Given the description of an element on the screen output the (x, y) to click on. 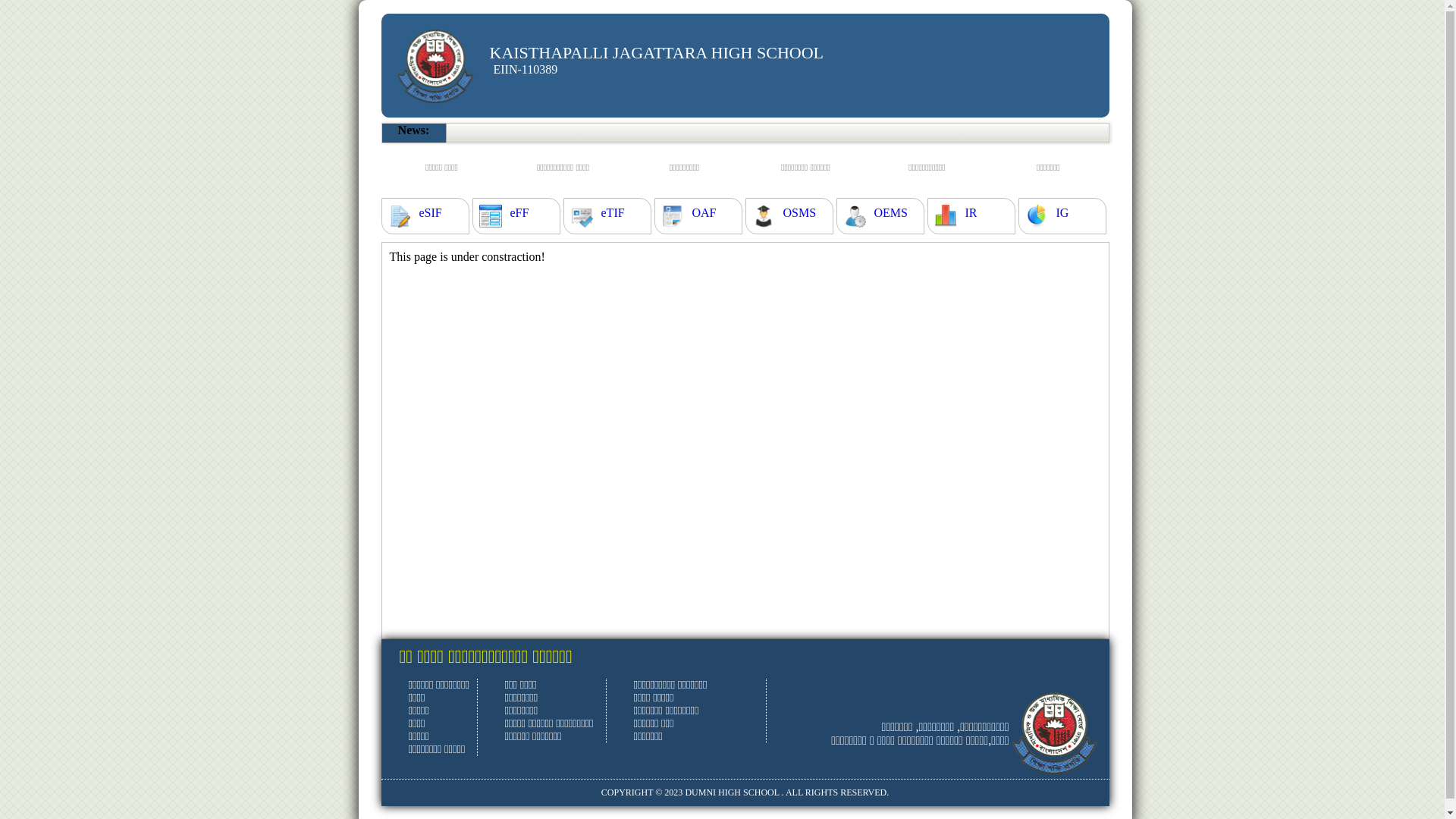
eFF Element type: text (518, 212)
IG Element type: text (1061, 212)
OAF Element type: text (703, 212)
eSIF Element type: text (429, 212)
DUMNI HIGH SCHOOL Element type: text (731, 792)
eTIF Element type: text (612, 212)
OEMS Element type: text (889, 212)
OSMS Element type: text (798, 212)
IR Element type: text (970, 212)
